Given the description of an element on the screen output the (x, y) to click on. 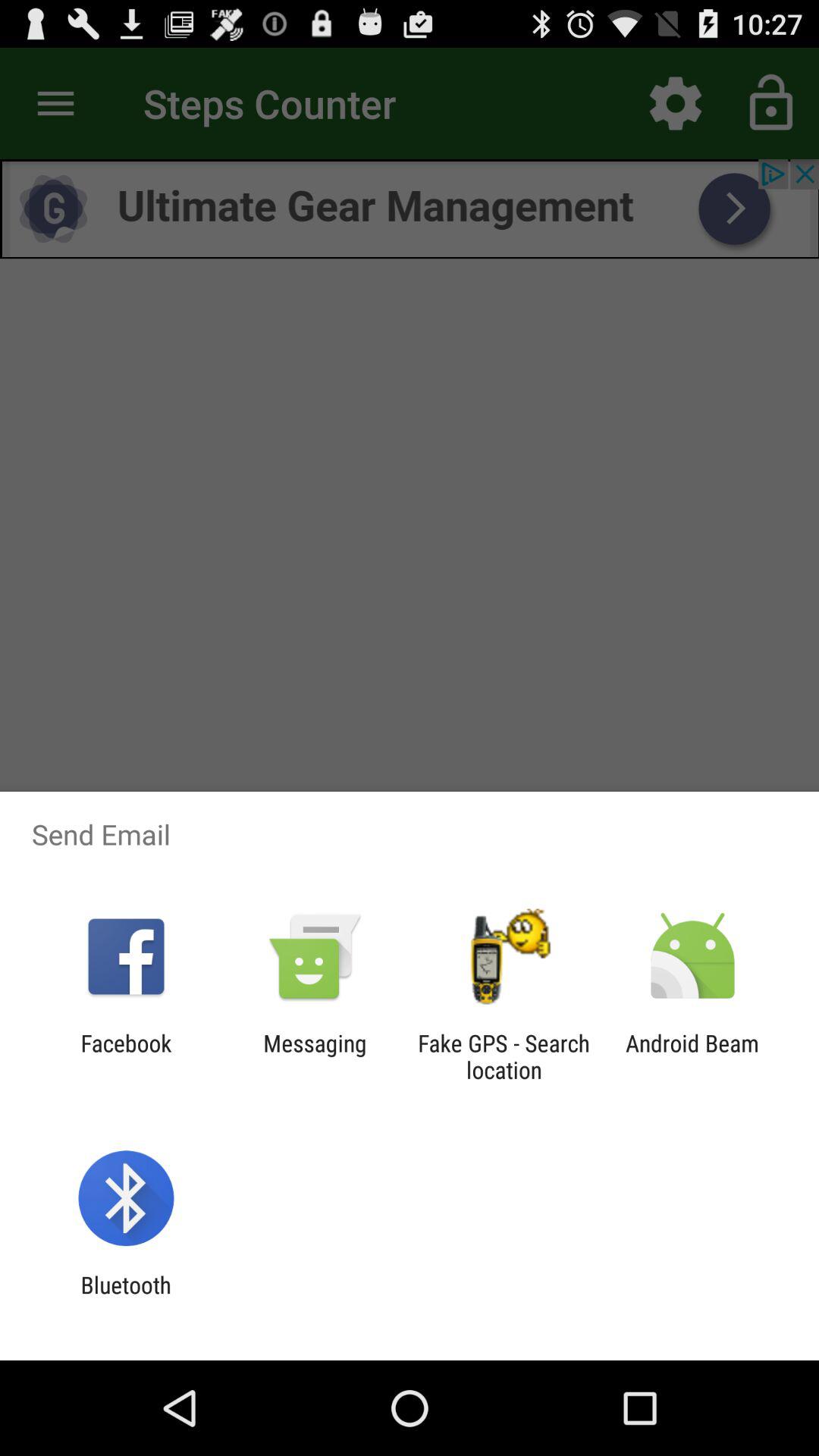
launch the item next to messaging (125, 1056)
